Given the description of an element on the screen output the (x, y) to click on. 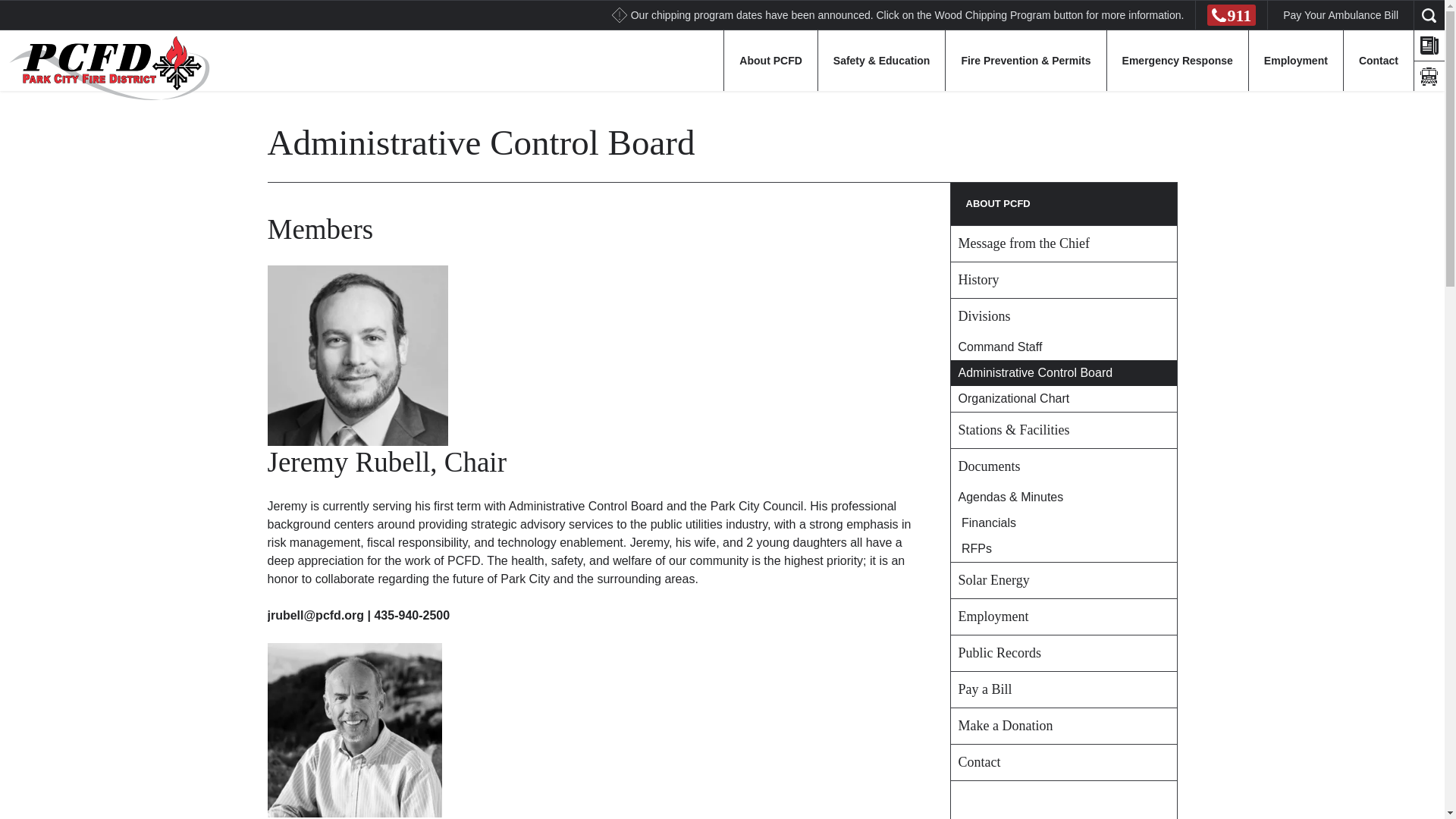
Search (21, 7)
911 (1231, 15)
About PCFD (769, 60)
Pay Your Ambulance Bill (1339, 14)
Park City Fire District (104, 66)
